Given the description of an element on the screen output the (x, y) to click on. 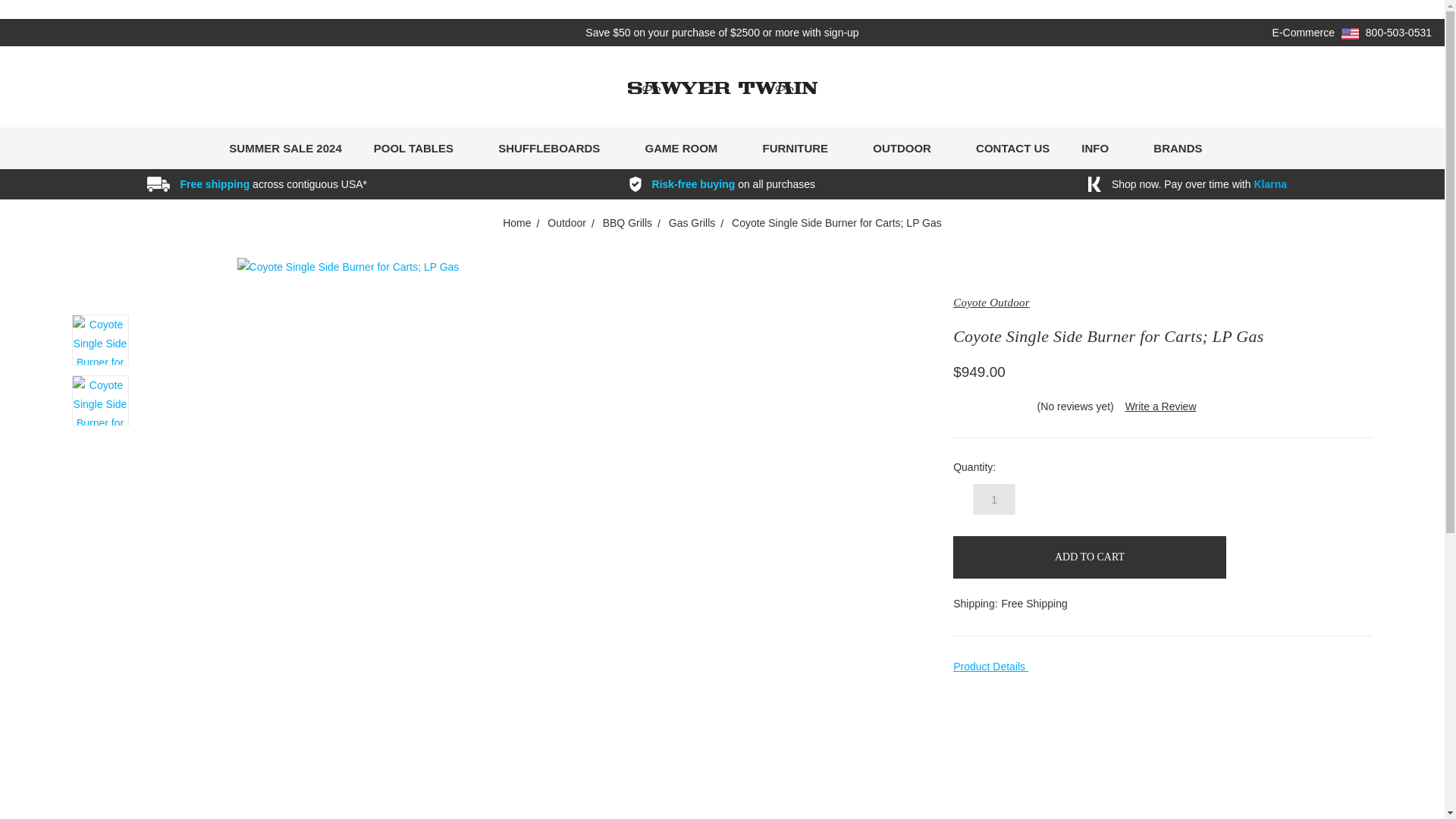
POOL TABLES (419, 147)
800-503-0531 (1398, 32)
Sawyer Twain (721, 87)
Coyote Single Side Burner for Carts; LP Gas (100, 339)
Product Details (1163, 666)
Add to Cart (1089, 557)
Coyote Single Side Burner for Carts; LP Gas (100, 400)
SUMMER SALE 2024 (284, 147)
1 (993, 499)
